Given the description of an element on the screen output the (x, y) to click on. 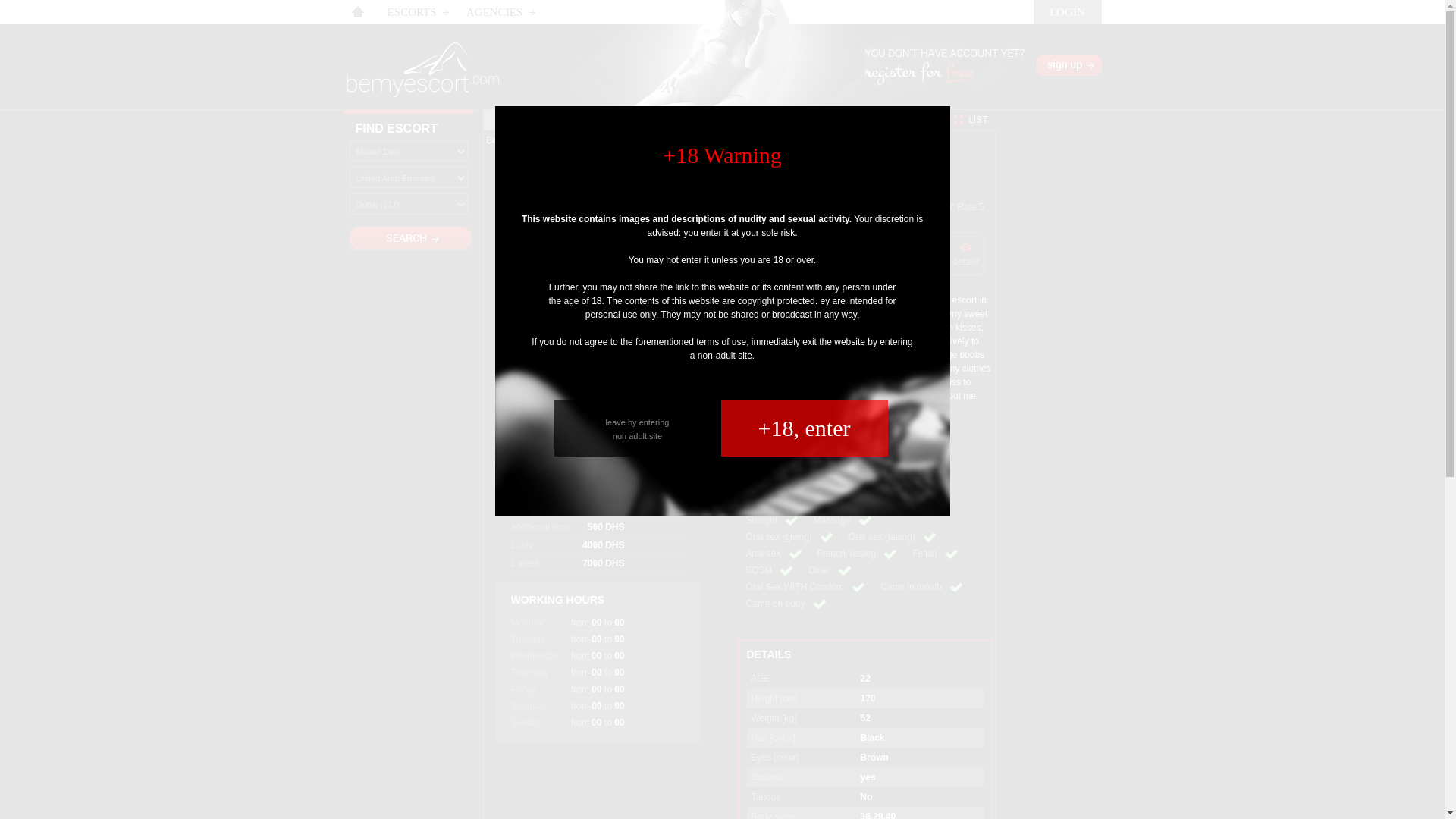
United Arab Emirates (712, 140)
Dubai (780, 140)
Bemyescort.com (520, 140)
Escorts (581, 140)
LIST (977, 119)
Click to show number (804, 454)
Middel East (634, 140)
